Given the description of an element on the screen output the (x, y) to click on. 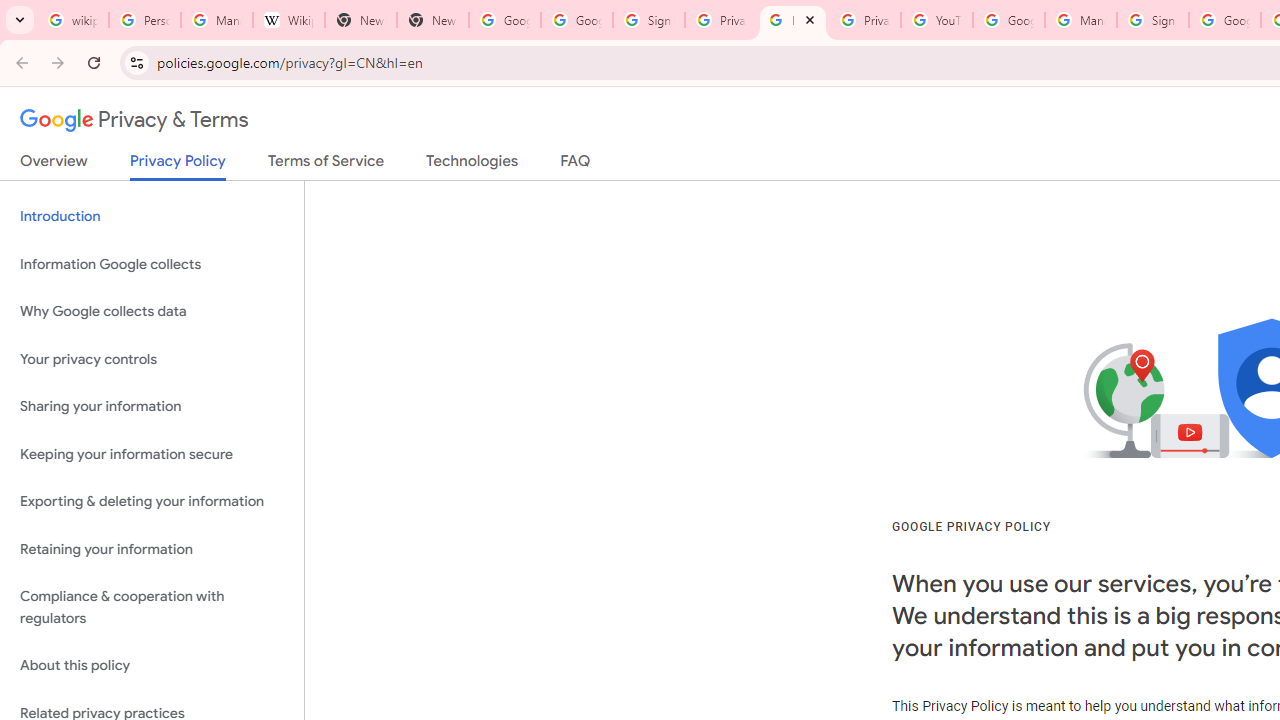
Compliance & cooperation with regulators (152, 607)
Google Drive: Sign-in (577, 20)
About this policy (152, 666)
Sign in - Google Accounts (648, 20)
Introduction (152, 216)
